Given the description of an element on the screen output the (x, y) to click on. 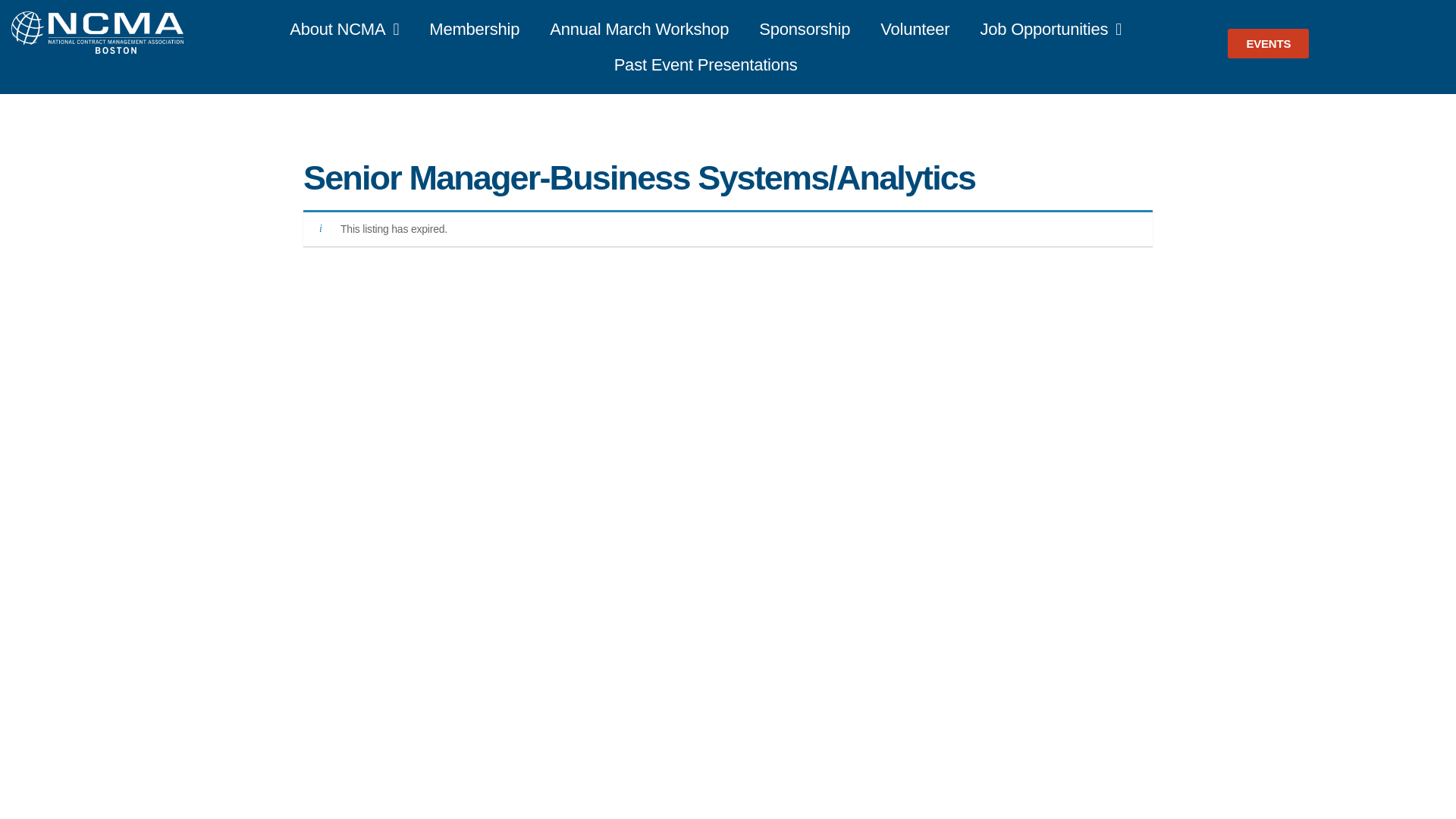
Sponsorship (804, 29)
Membership (473, 29)
Volunteer (913, 29)
Annual March Workshop (639, 29)
About NCMA (344, 29)
Job Opportunities (1050, 29)
EVENTS (1267, 43)
Past Event Presentations (705, 64)
